Given the description of an element on the screen output the (x, y) to click on. 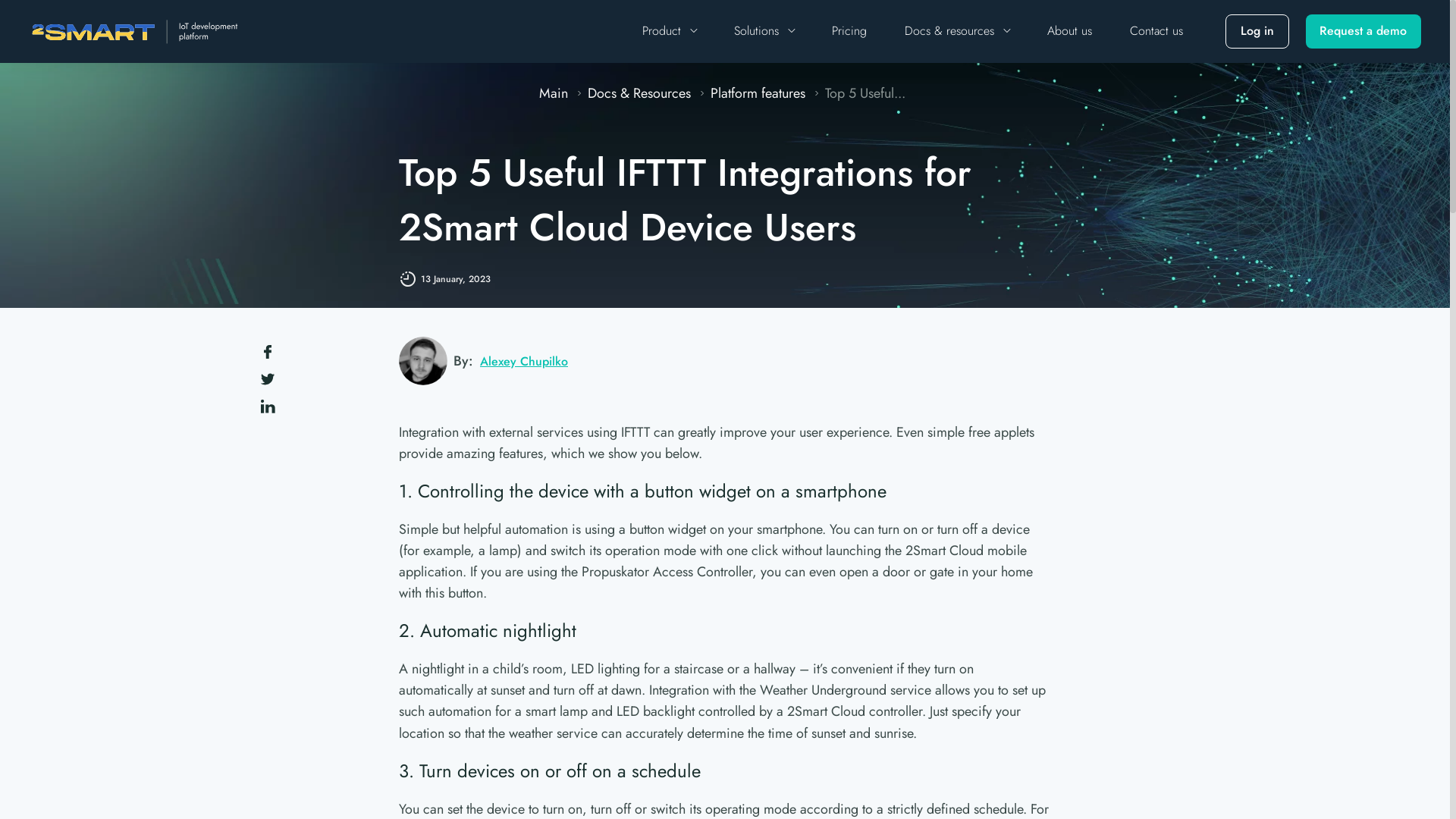
Platform features Element type: text (758, 93)
Request a demo Element type: text (1363, 30)
Contact us Element type: text (1155, 31)
Docs & Resources Element type: text (639, 93)
Log in Element type: text (1257, 30)
Main Element type: text (554, 93)
Alexey Chupilko Element type: text (521, 360)
About us Element type: text (1069, 31)
Pricing Element type: text (848, 31)
